Given the description of an element on the screen output the (x, y) to click on. 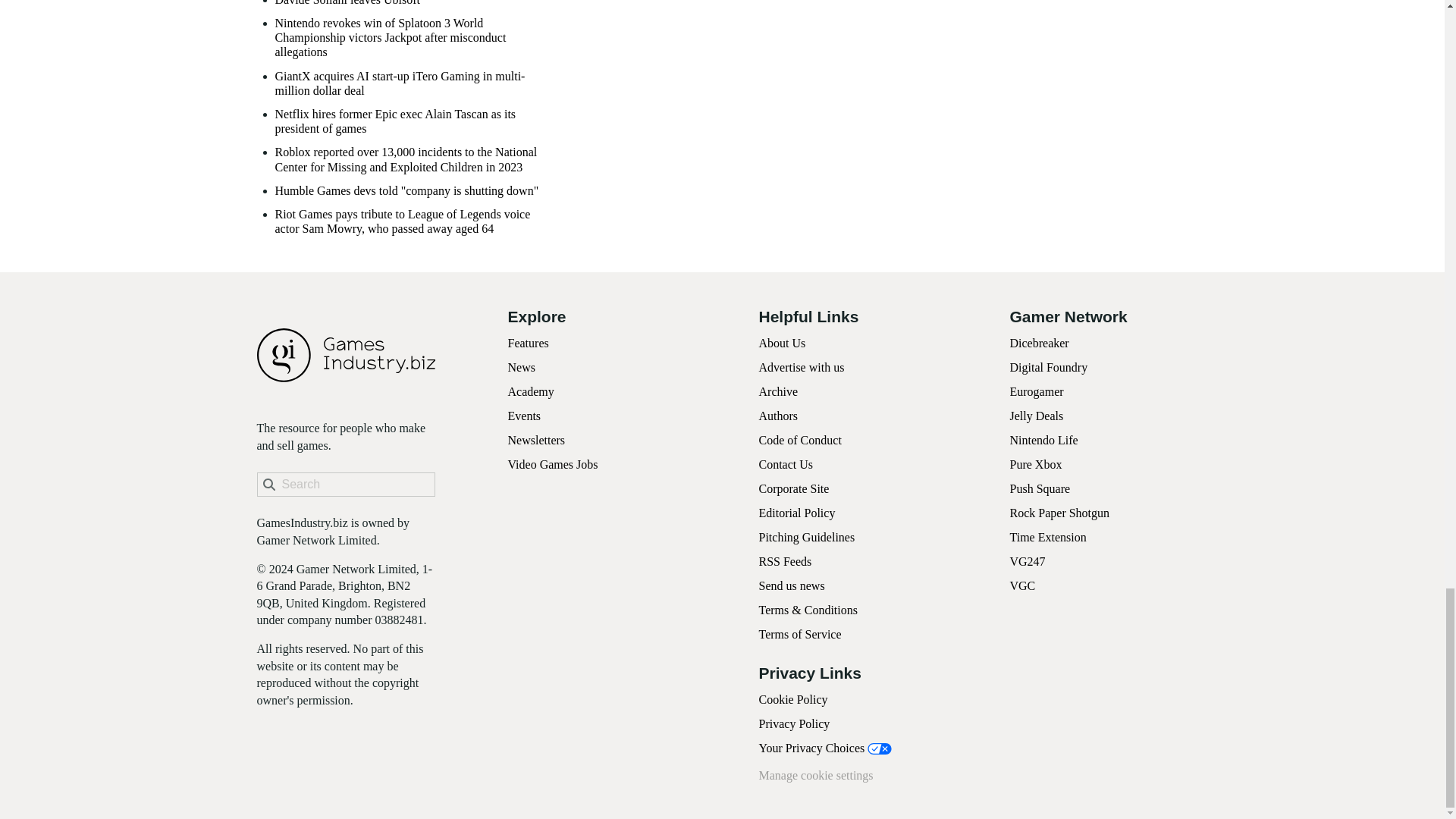
Newsletters (537, 440)
About Us (781, 342)
Academy (531, 391)
Davide Soliani leaves Ubisoft (347, 3)
Advertise with us (801, 367)
News (521, 367)
Video Games Jobs (553, 463)
Features (528, 342)
Humble Games devs told "company is shutting down" (406, 190)
Events (524, 415)
